Given the description of an element on the screen output the (x, y) to click on. 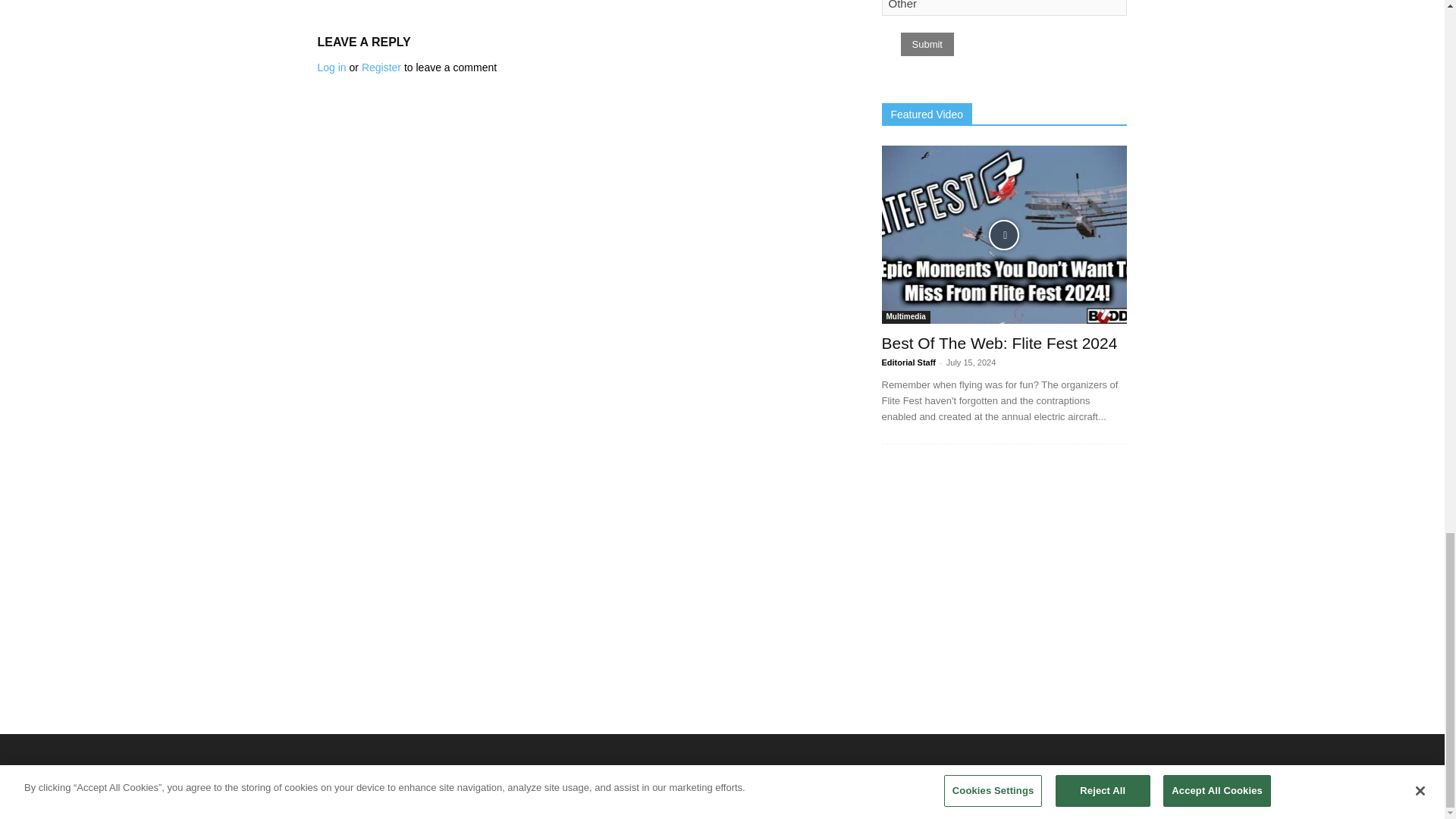
Submit (927, 44)
Other (1003, 7)
